Given the description of an element on the screen output the (x, y) to click on. 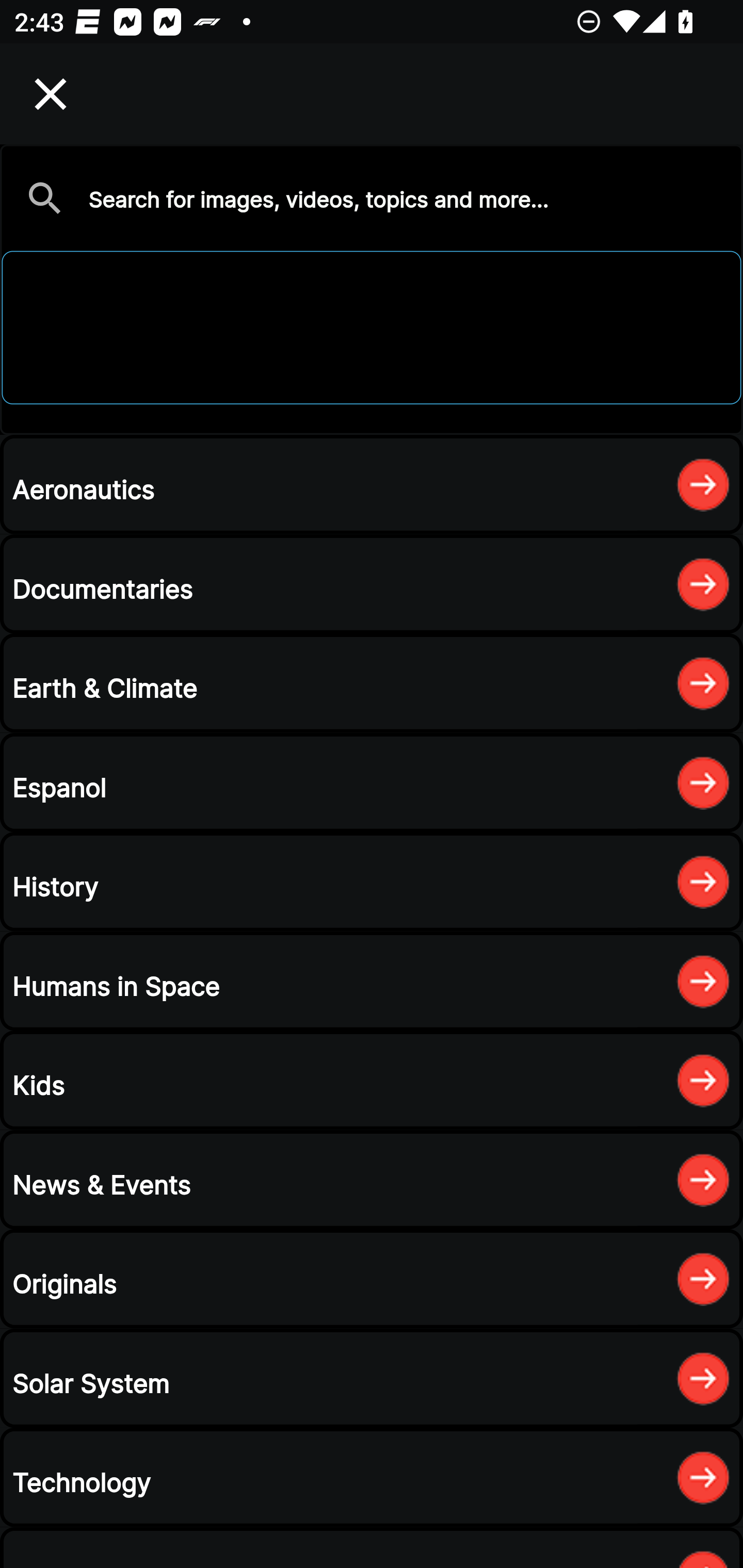
Asteroid (371, 289)
Aeronautics (371, 484)
Documentaries (371, 583)
Earth & Climate (371, 682)
Espanol (371, 782)
History (371, 881)
Humans in Space (371, 980)
Kids (371, 1080)
News & Events (371, 1179)
Originals (371, 1278)
Solar System (371, 1378)
Technology (371, 1477)
